Given the description of an element on the screen output the (x, y) to click on. 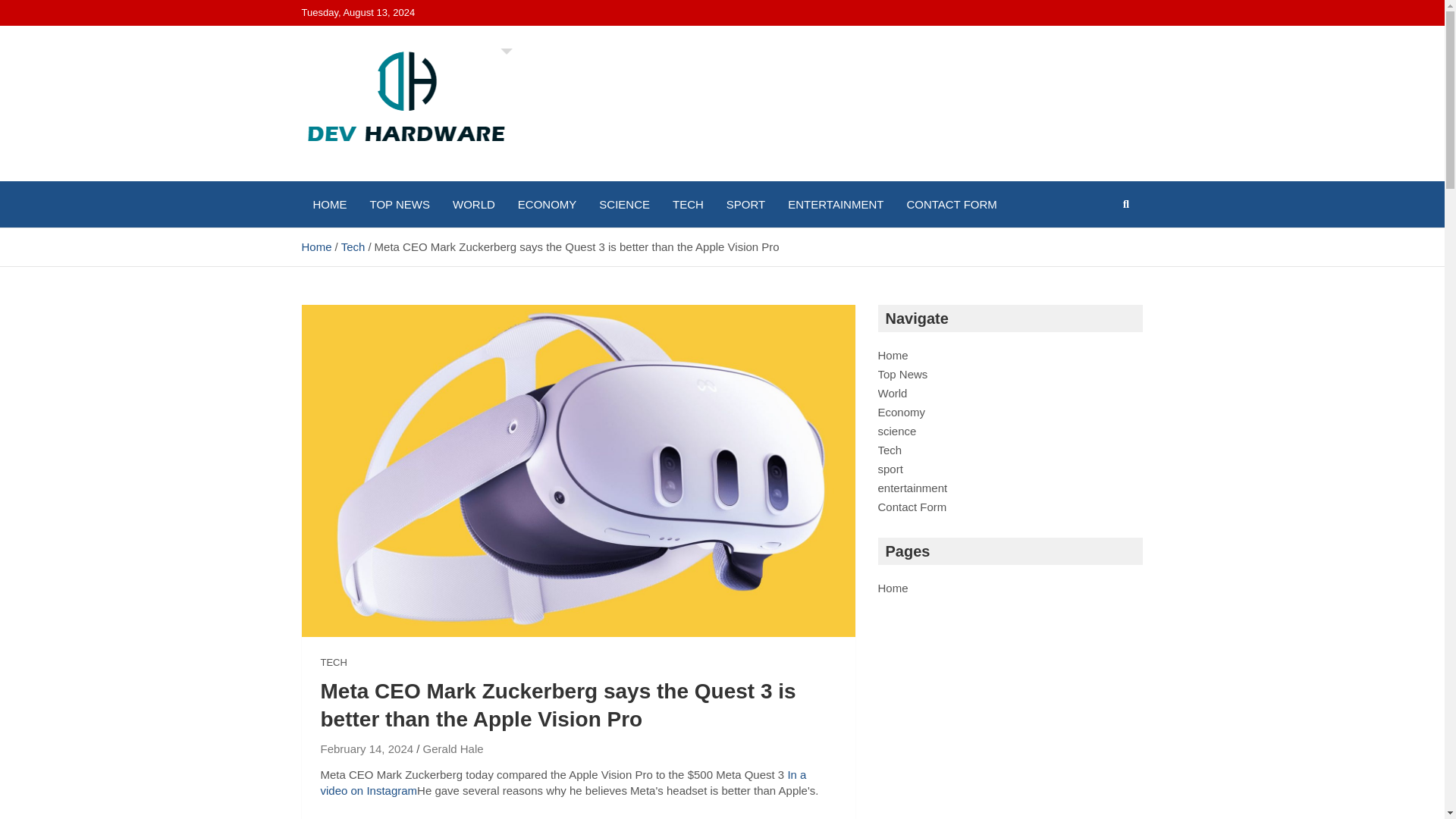
ECONOMY (547, 203)
CONTACT FORM (951, 203)
World (892, 392)
Tech (889, 449)
TECH (333, 662)
Contact Form (912, 506)
In a video on Instagram (563, 782)
Home (892, 587)
TOP NEWS (399, 203)
sport (889, 468)
